Given the description of an element on the screen output the (x, y) to click on. 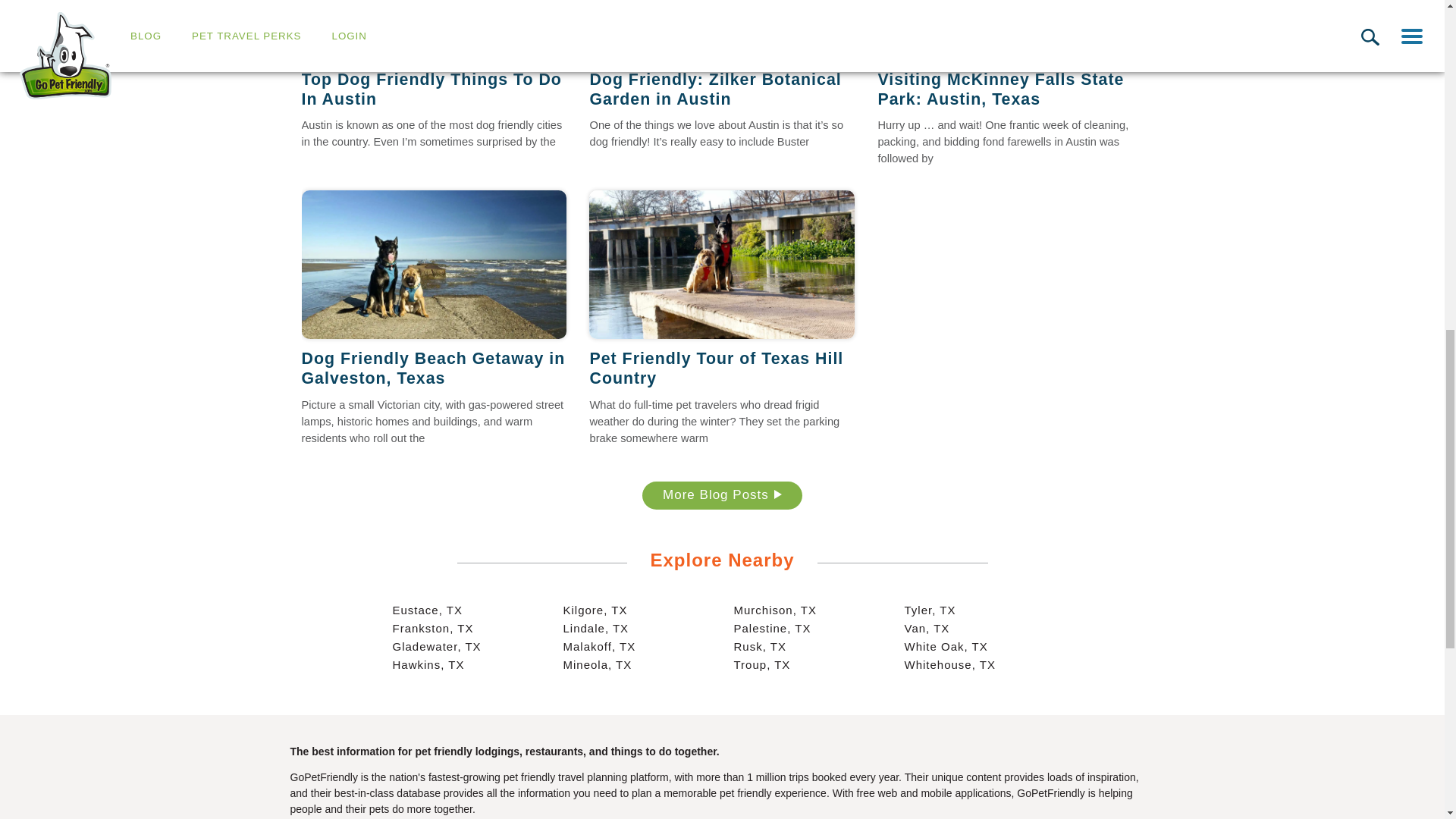
Visiting McKinney Falls State Park: Austin, Texas (1009, 29)
More Blog Posts (722, 495)
Dog Friendly Beach Getaway in Galveston, Texas (434, 368)
Pet Friendly Tour of Texas Hill Country (721, 264)
Top Dog Friendly Things To Do In Austin (434, 29)
Dog Friendly Beach Getaway in Galveston, Texas (434, 264)
Kilgore, TX (594, 609)
Dog Friendly: Zilker Botanical Garden in Austin (721, 89)
Hawkins, TX (428, 664)
Eustace, TX (428, 609)
Pet Friendly Tour of Texas Hill Country (721, 368)
Dog Friendly: Zilker Botanical Garden in Austin (721, 29)
Visiting McKinney Falls State Park: Austin, Texas (1009, 89)
Top Dog Friendly Things To Do In Austin (434, 89)
Frankston, TX (433, 627)
